Given the description of an element on the screen output the (x, y) to click on. 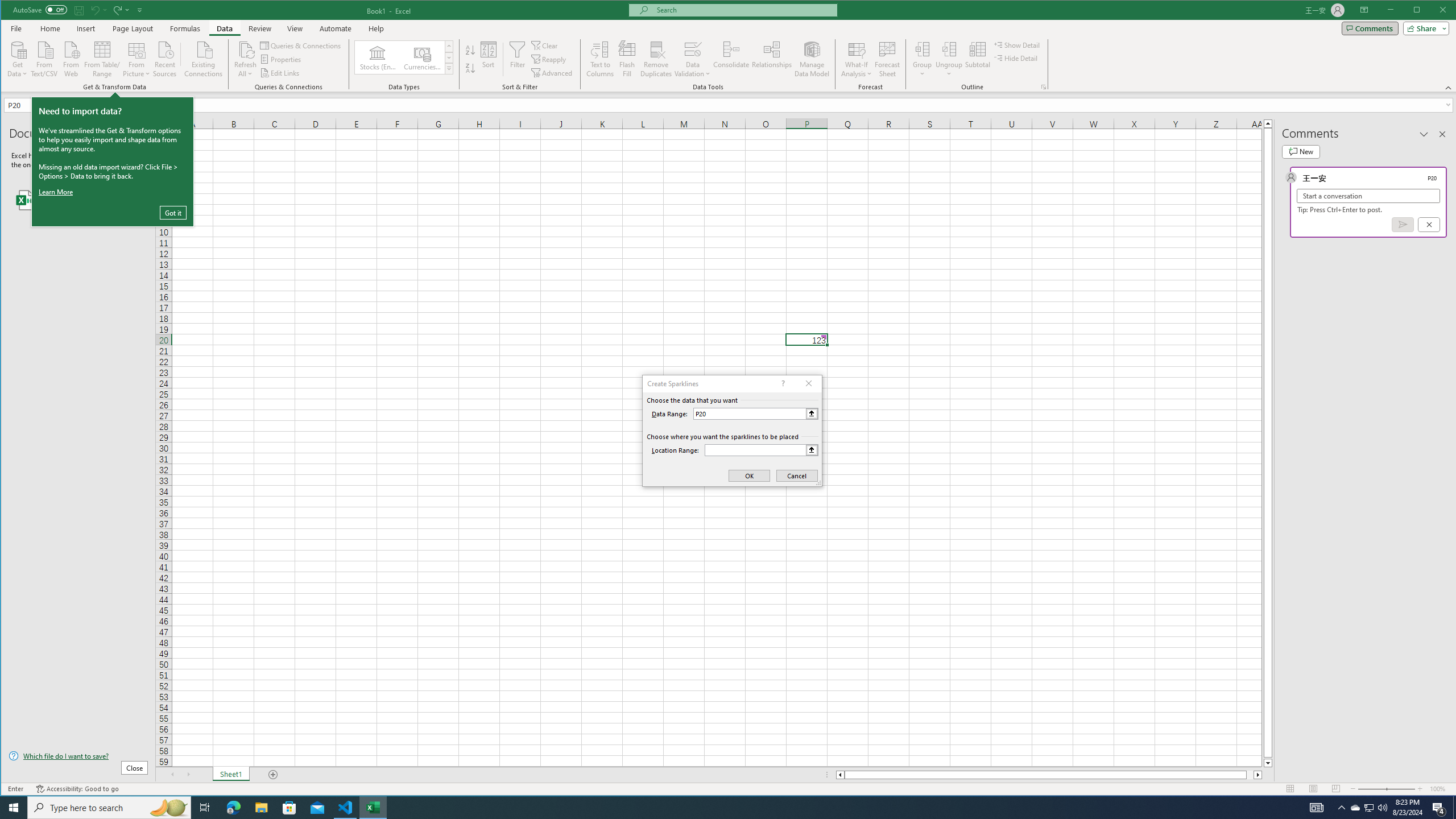
File Tab (16, 27)
Recent Sources (164, 57)
Row up (448, 46)
Refresh All (244, 48)
Close pane (1441, 133)
Hide Detail (1016, 57)
More Options (948, 69)
From Web (70, 57)
Data (224, 28)
Line up (1267, 122)
AutomationID: ConvertToLinkedEntity (403, 57)
Automate (336, 28)
Task Pane Options (1423, 133)
System (11, 10)
